Given the description of an element on the screen output the (x, y) to click on. 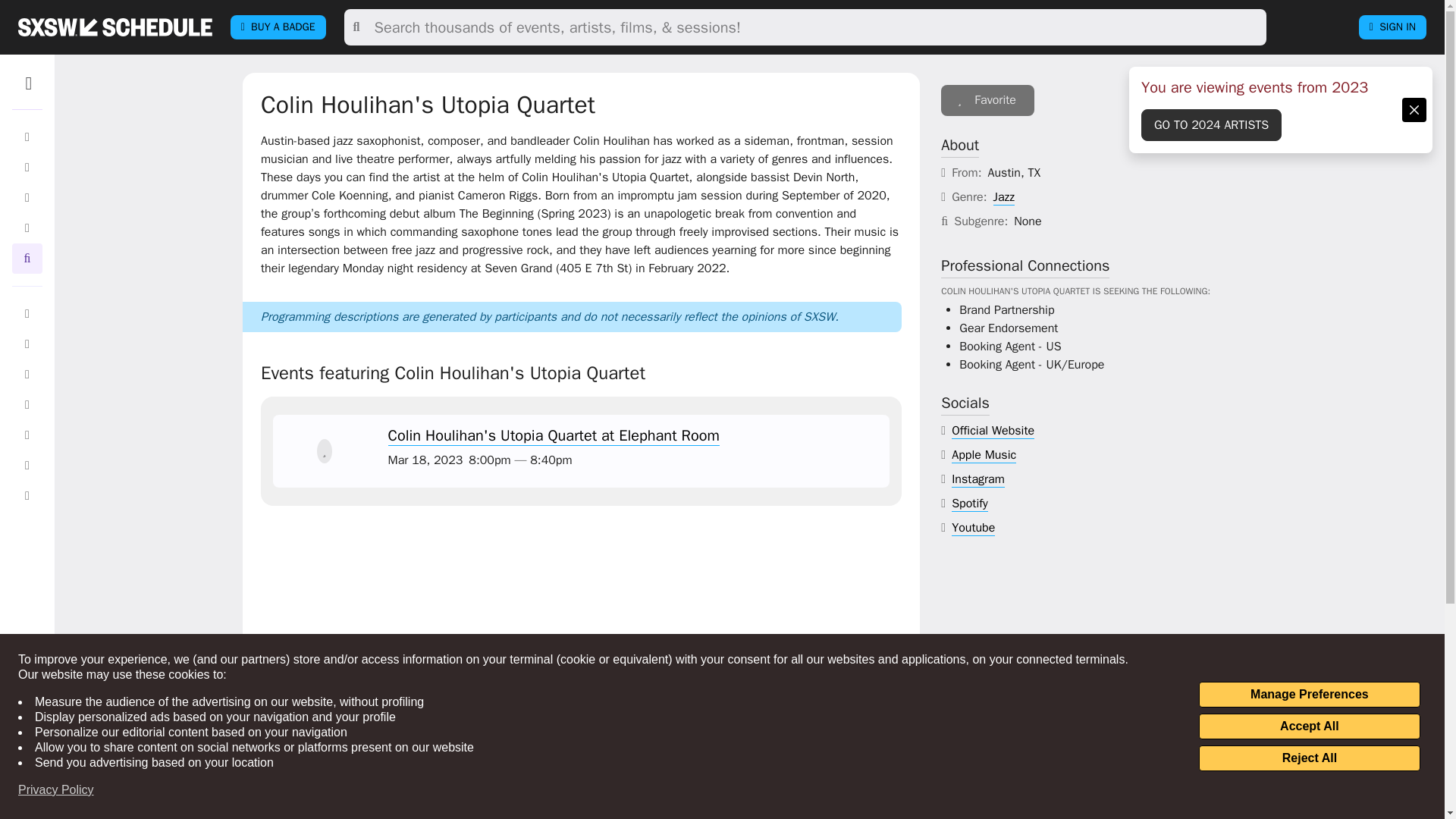
spotify (970, 503)
GO TO 2024 ARTISTS (1211, 124)
Privacy Policy (55, 789)
SIGN IN (1392, 27)
Reject All (1309, 758)
website (992, 430)
BUY A BADGE (278, 27)
Sign In to add to your favorites. (986, 100)
instagram (978, 479)
Manage Preferences (1309, 694)
